Given the description of an element on the screen output the (x, y) to click on. 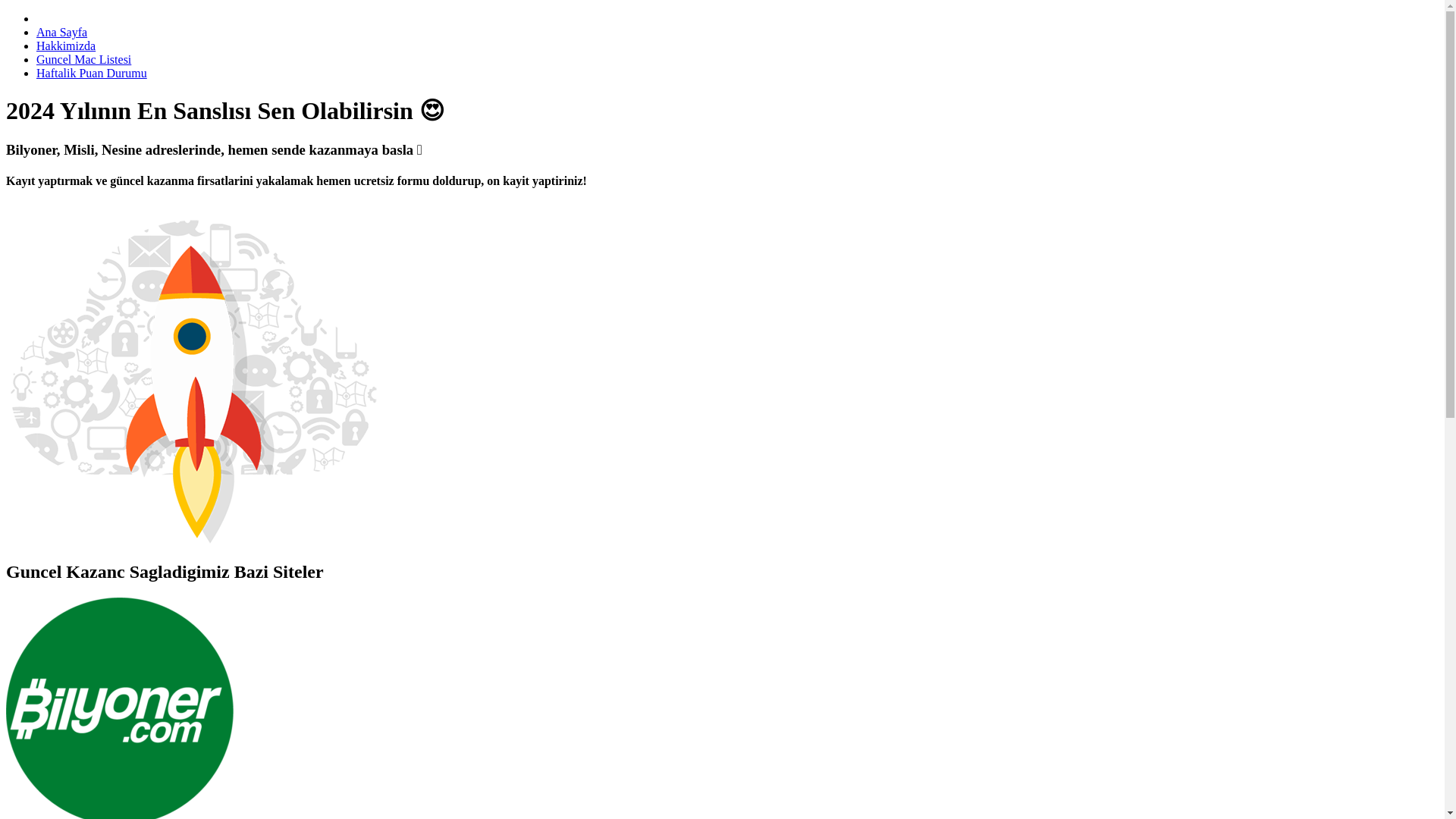
Guncel Mac Listesi (83, 59)
Ana Sayfa (61, 31)
Hakkimizda (66, 45)
Ana Sayfa (61, 31)
Haftalik Puan Durumu (91, 72)
Haftalik Puan Durumu (91, 72)
Guncel Mac Listesi (83, 59)
Hakkimizda (66, 45)
